Given the description of an element on the screen output the (x, y) to click on. 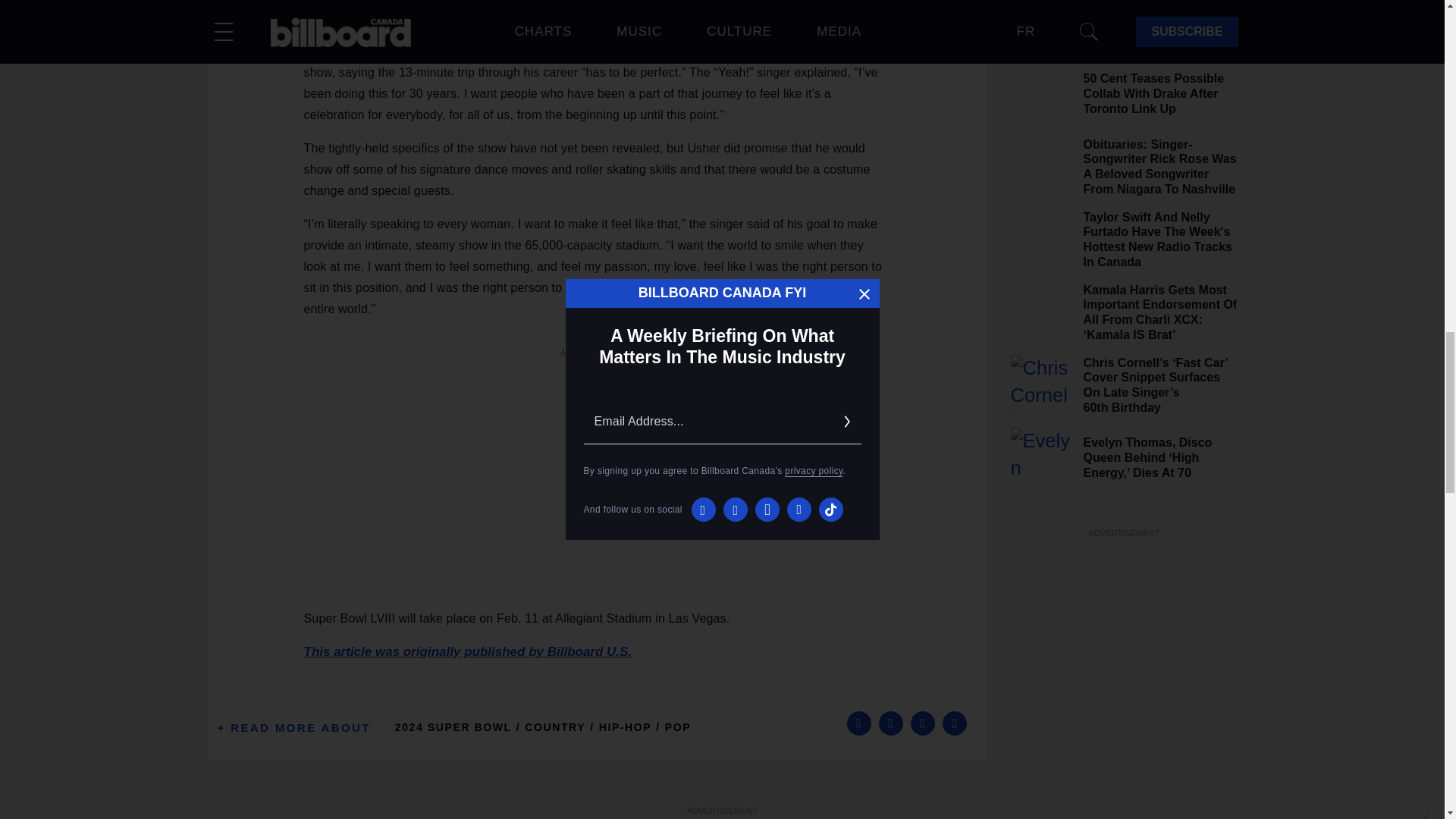
Copy this link to clipboard (954, 723)
